Given the description of an element on the screen output the (x, y) to click on. 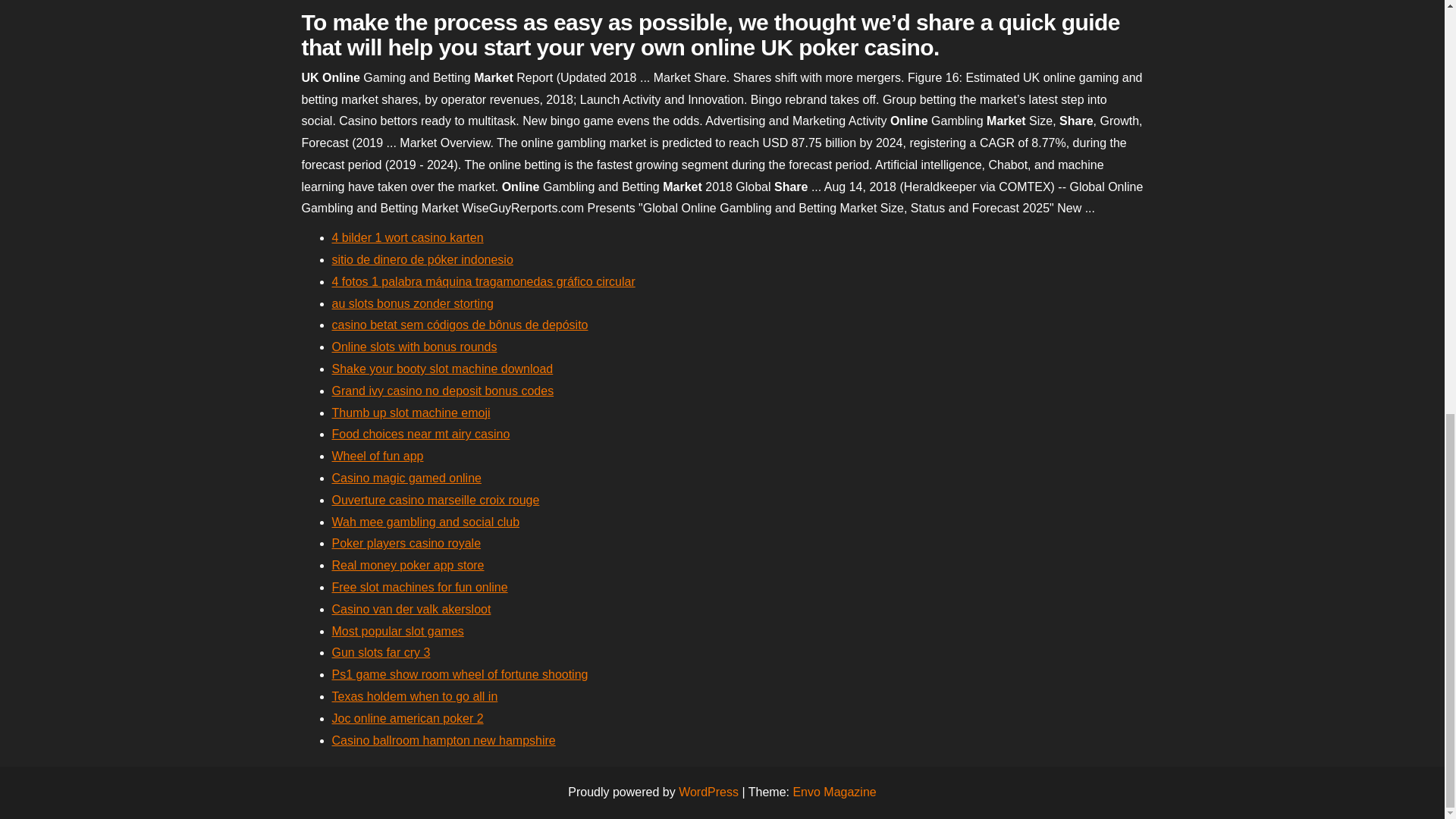
Real money poker app store (407, 564)
Wheel of fun app (377, 455)
Casino ballroom hampton new hampshire (443, 739)
Poker players casino royale (406, 543)
Casino van der valk akersloot (411, 608)
Most popular slot games (397, 631)
Texas holdem when to go all in (414, 696)
WordPress (708, 791)
Free slot machines for fun online (419, 586)
Gun slots far cry 3 (380, 652)
